Given the description of an element on the screen output the (x, y) to click on. 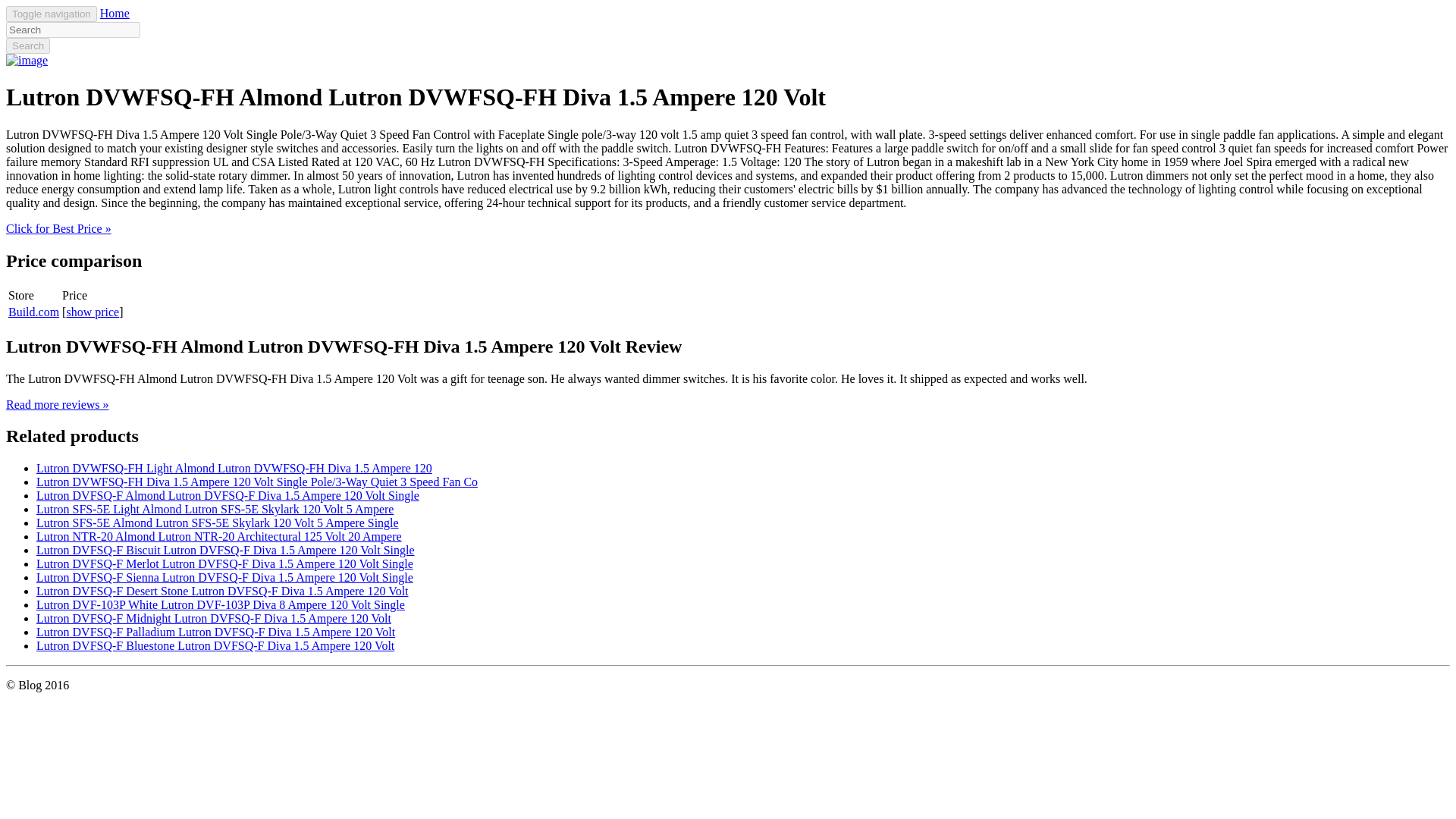
Build.com (33, 311)
Home (114, 12)
show price (92, 311)
Toggle navigation (51, 13)
